Given the description of an element on the screen output the (x, y) to click on. 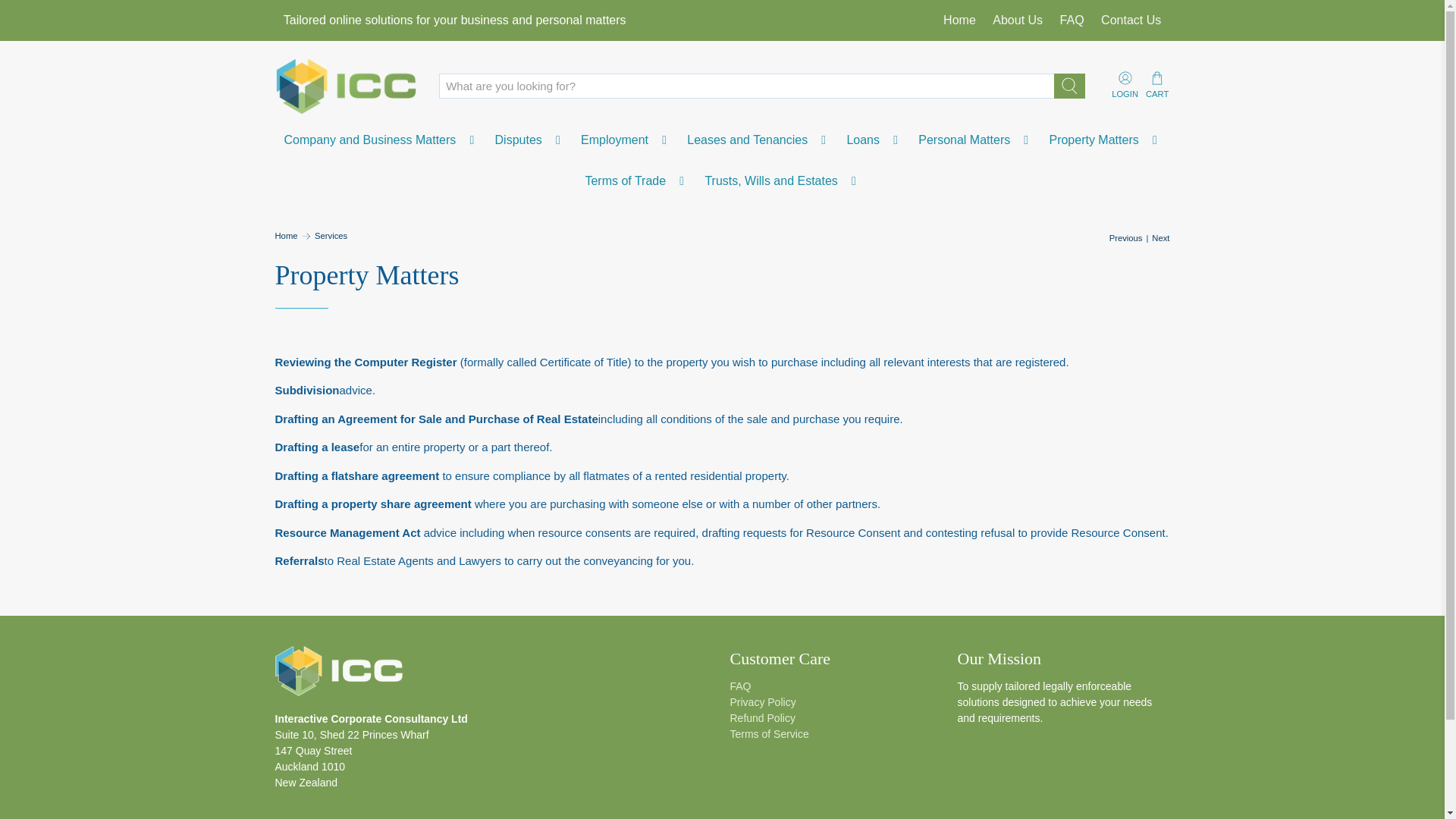
CART (1157, 85)
Previous (1125, 238)
ICC (346, 85)
Services (330, 235)
ICC (338, 678)
LOGIN (1124, 85)
Home (959, 20)
Contact Us (1131, 20)
Disputes (529, 139)
About Us (1017, 20)
FAQ (1072, 20)
Loans (874, 139)
Personal Matters (975, 139)
Employment (625, 139)
Company and Business Matters (380, 139)
